Given the description of an element on the screen output the (x, y) to click on. 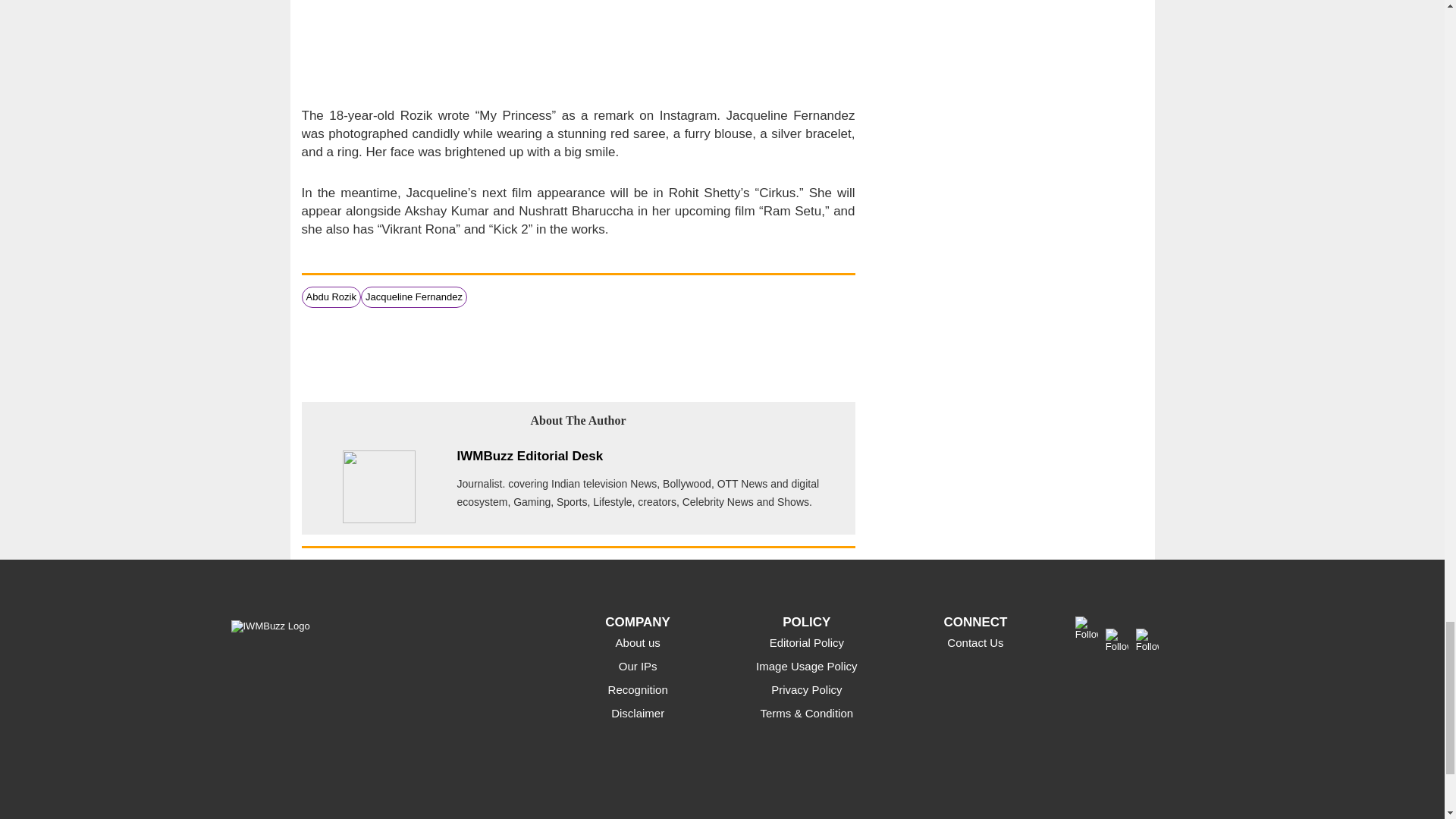
Jacqueline Fernandez (414, 296)
Abdu Rozik (330, 296)
IWMBuzz Editorial Desk (529, 455)
